Given the description of an element on the screen output the (x, y) to click on. 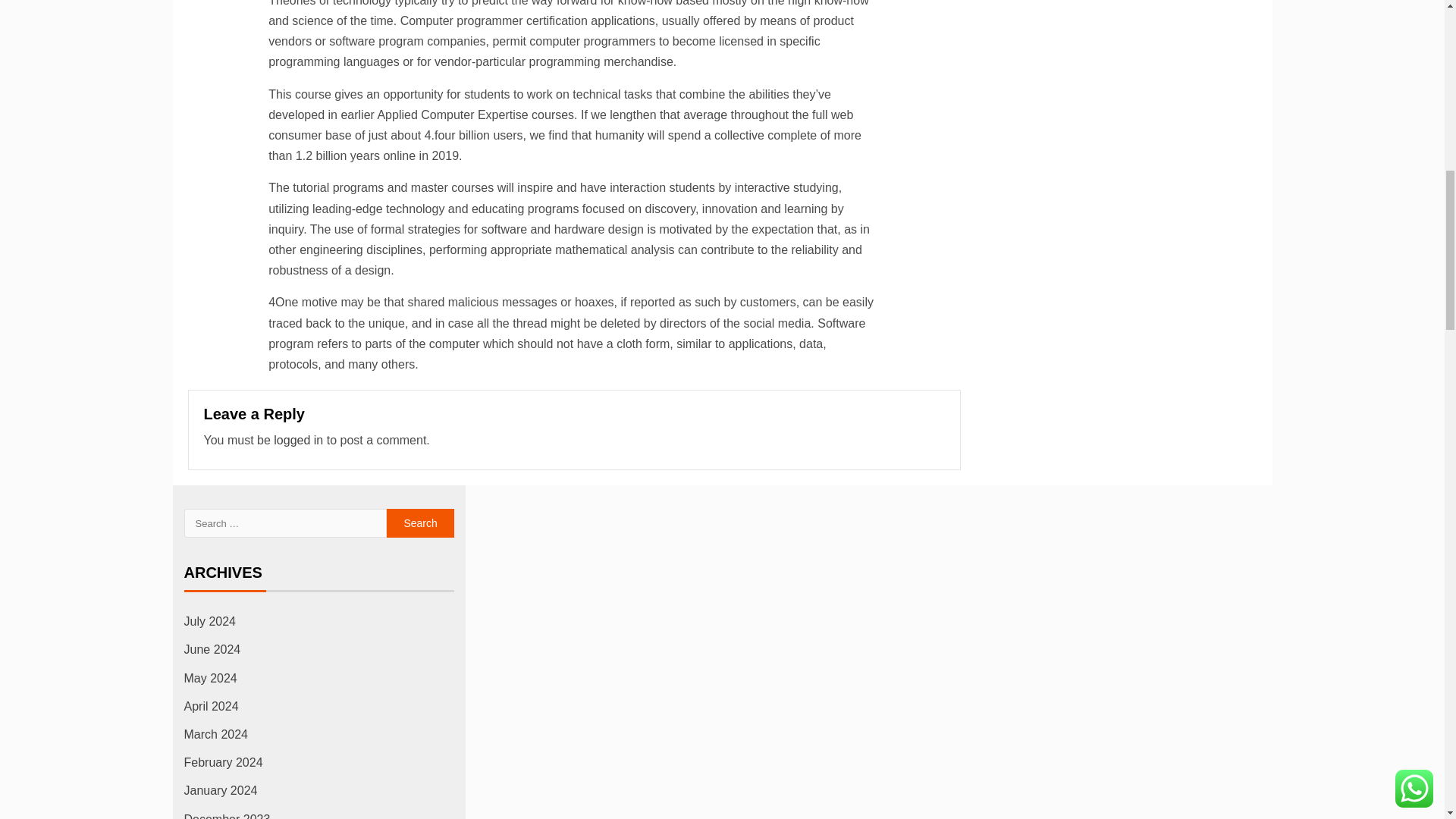
June 2024 (211, 649)
April 2024 (210, 706)
Search (420, 522)
Search (420, 522)
logged in (298, 440)
Search (420, 522)
May 2024 (209, 677)
July 2024 (209, 621)
